Given the description of an element on the screen output the (x, y) to click on. 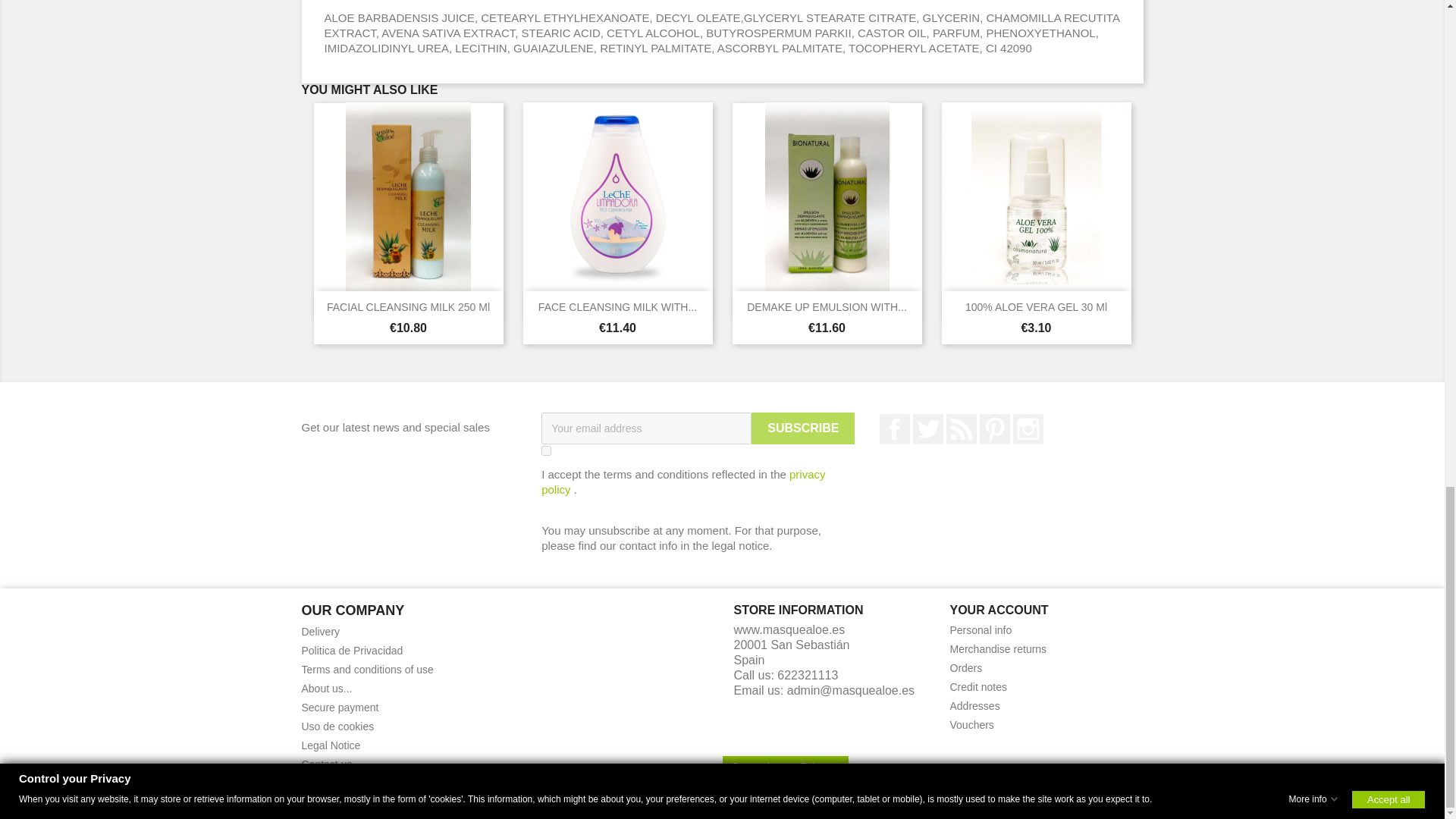
1 (546, 450)
Subscribe (802, 428)
